Given the description of an element on the screen output the (x, y) to click on. 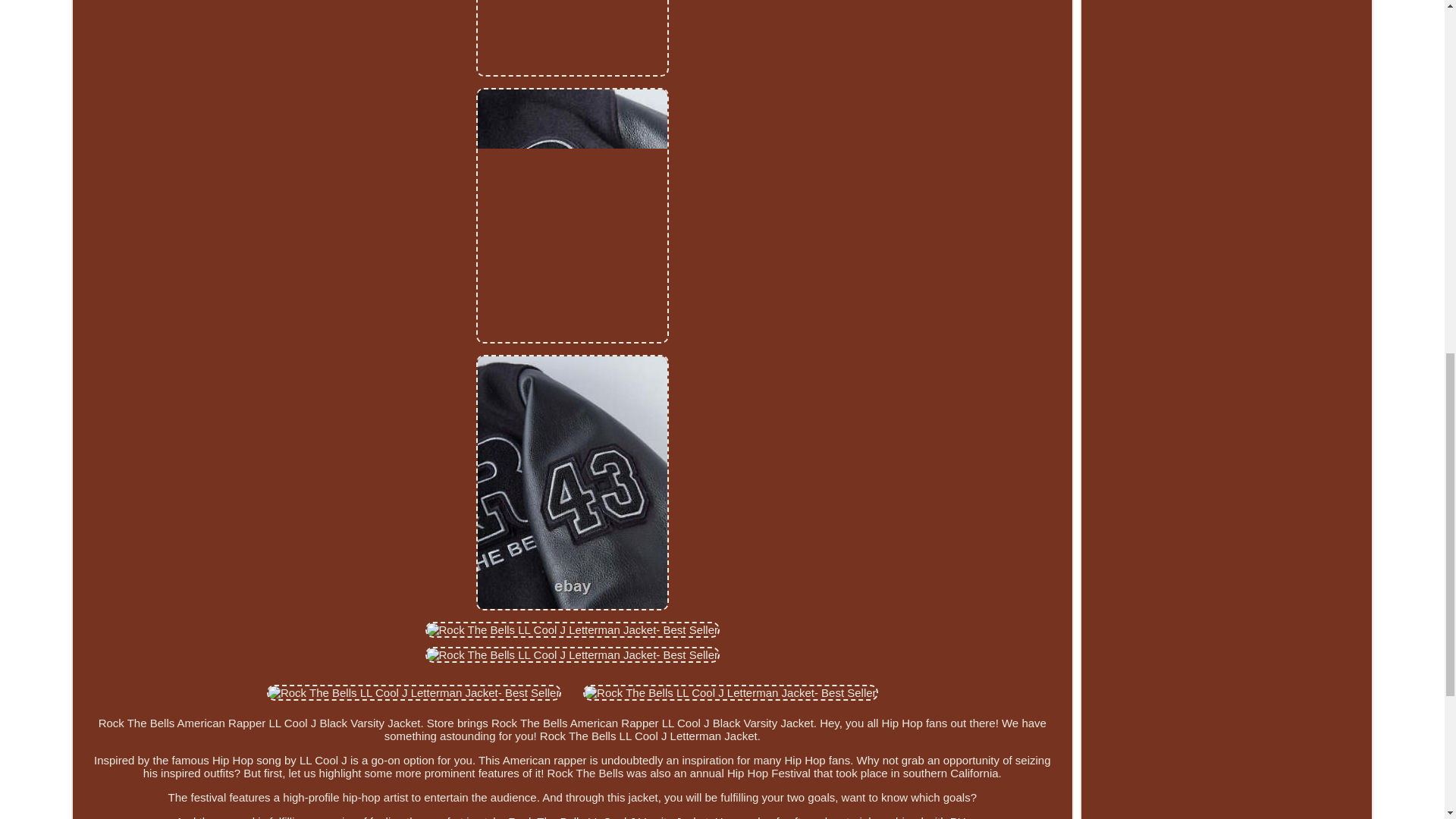
Rock The Bells LL Cool J Letterman Jacket- Best Seller (414, 692)
Rock The Bells LL Cool J Letterman Jacket- Best Seller (572, 654)
Rock The Bells LL Cool J Letterman Jacket- Best Seller (572, 38)
Rock The Bells LL Cool J Letterman Jacket- Best Seller (730, 692)
Rock The Bells LL Cool J Letterman Jacket- Best Seller (572, 629)
